Given the description of an element on the screen output the (x, y) to click on. 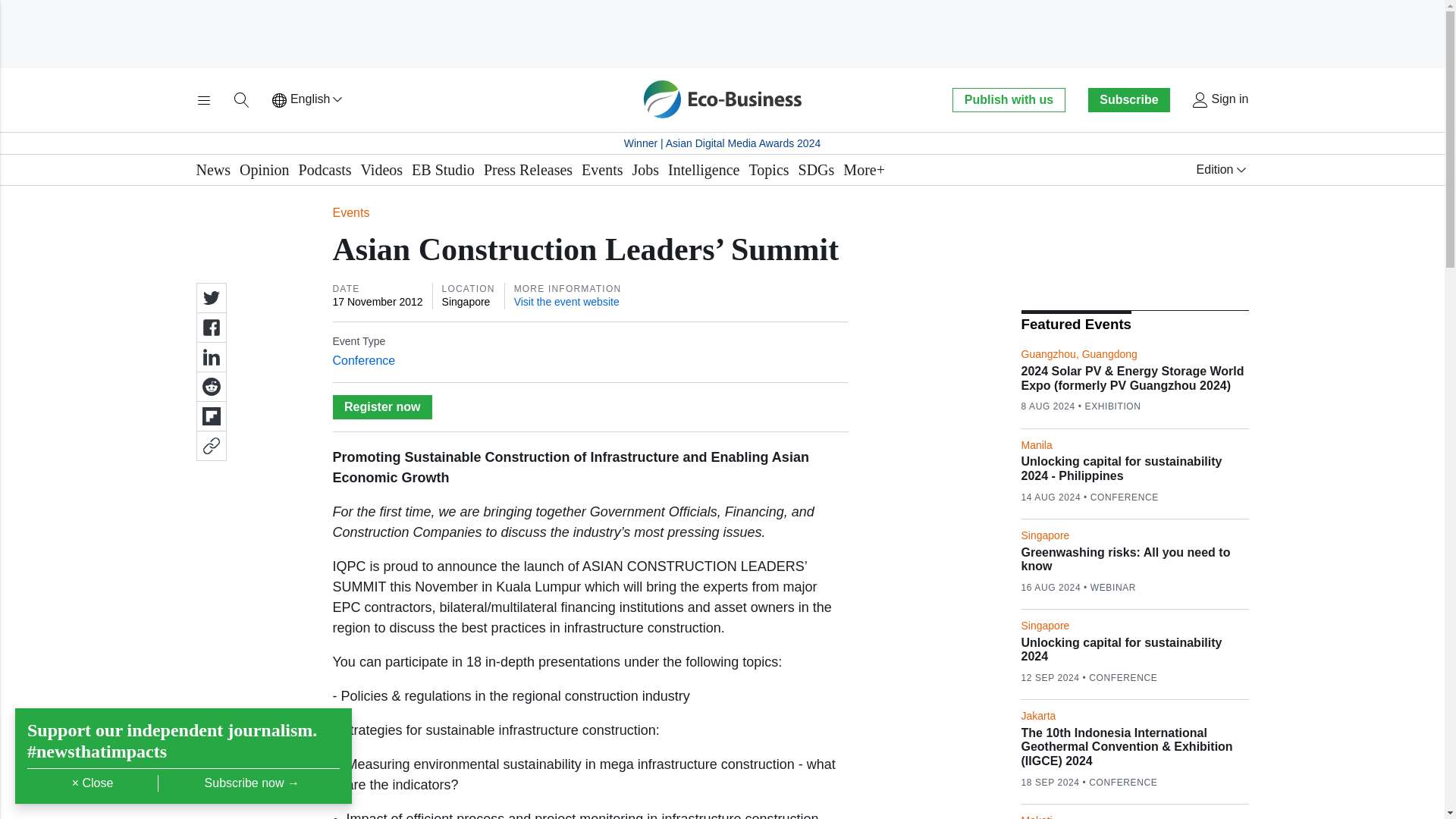
News (212, 169)
Search (240, 99)
Share on Facebook (210, 327)
Press Releases (527, 169)
Menu (203, 99)
Share on LinkedIn (210, 357)
Events (601, 169)
Subscribe (1128, 99)
Go to the Eco-Business homepage (721, 99)
Toggle search (240, 99)
Publish with us (1008, 99)
EB Studio (443, 169)
Toggle menu (203, 99)
Podcasts (325, 169)
Sign in (1219, 99)
